Given the description of an element on the screen output the (x, y) to click on. 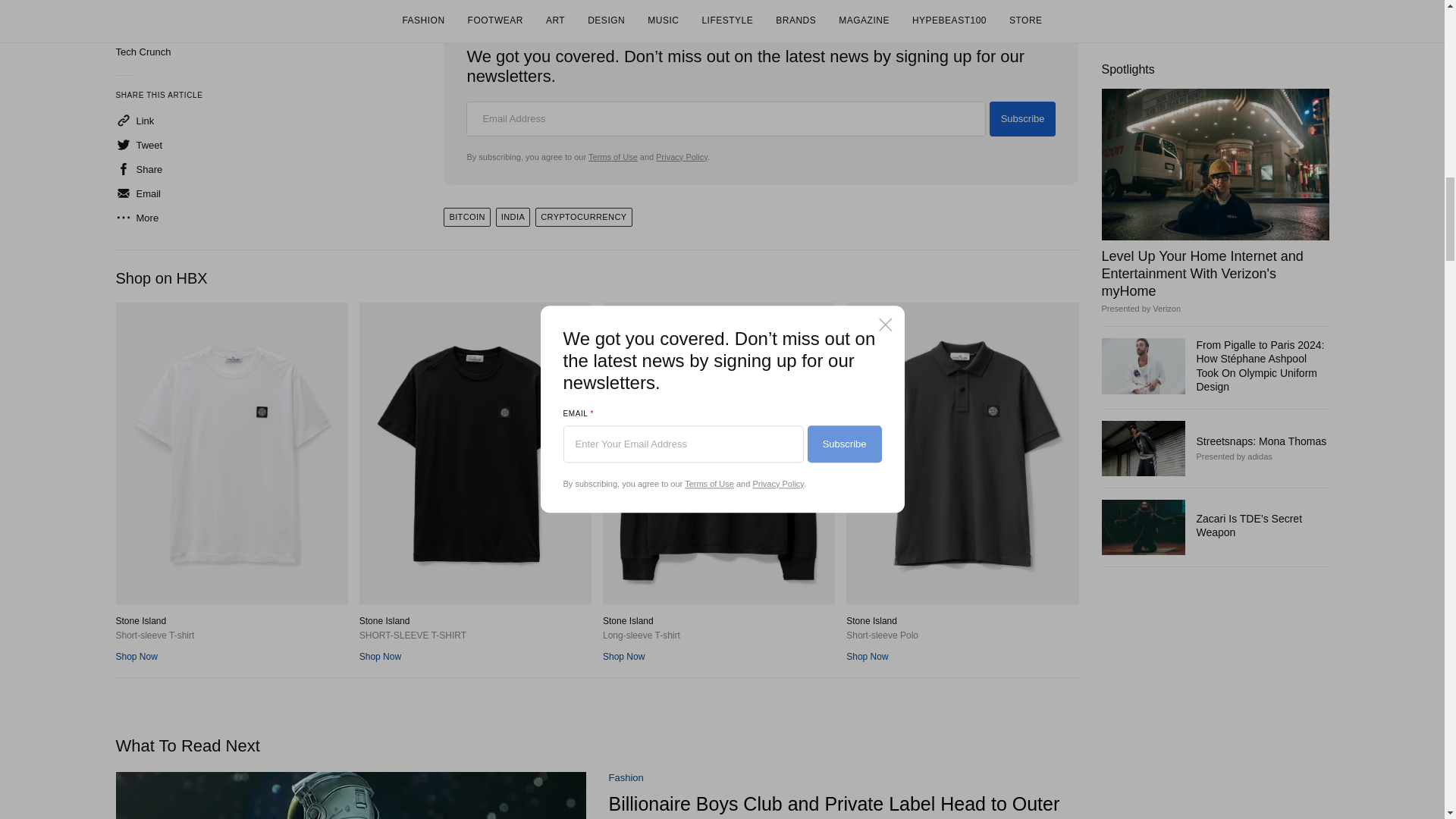
Streetsnaps: Mona Thomas (1142, 166)
India (512, 217)
Cryptocurrency (583, 217)
Bitcoin (466, 217)
